Given the description of an element on the screen output the (x, y) to click on. 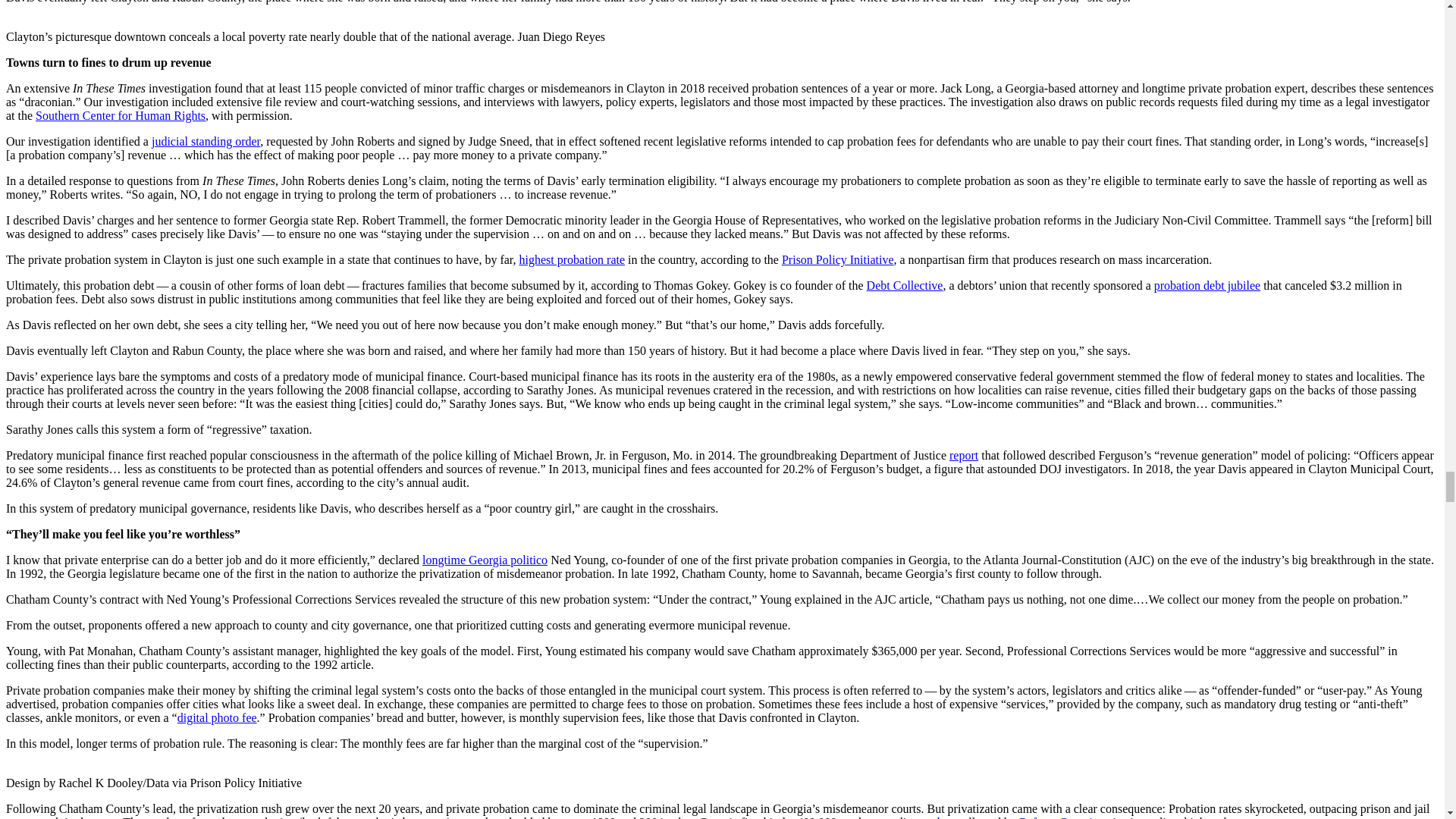
Southern Center for Human Rights (119, 115)
